Given the description of an element on the screen output the (x, y) to click on. 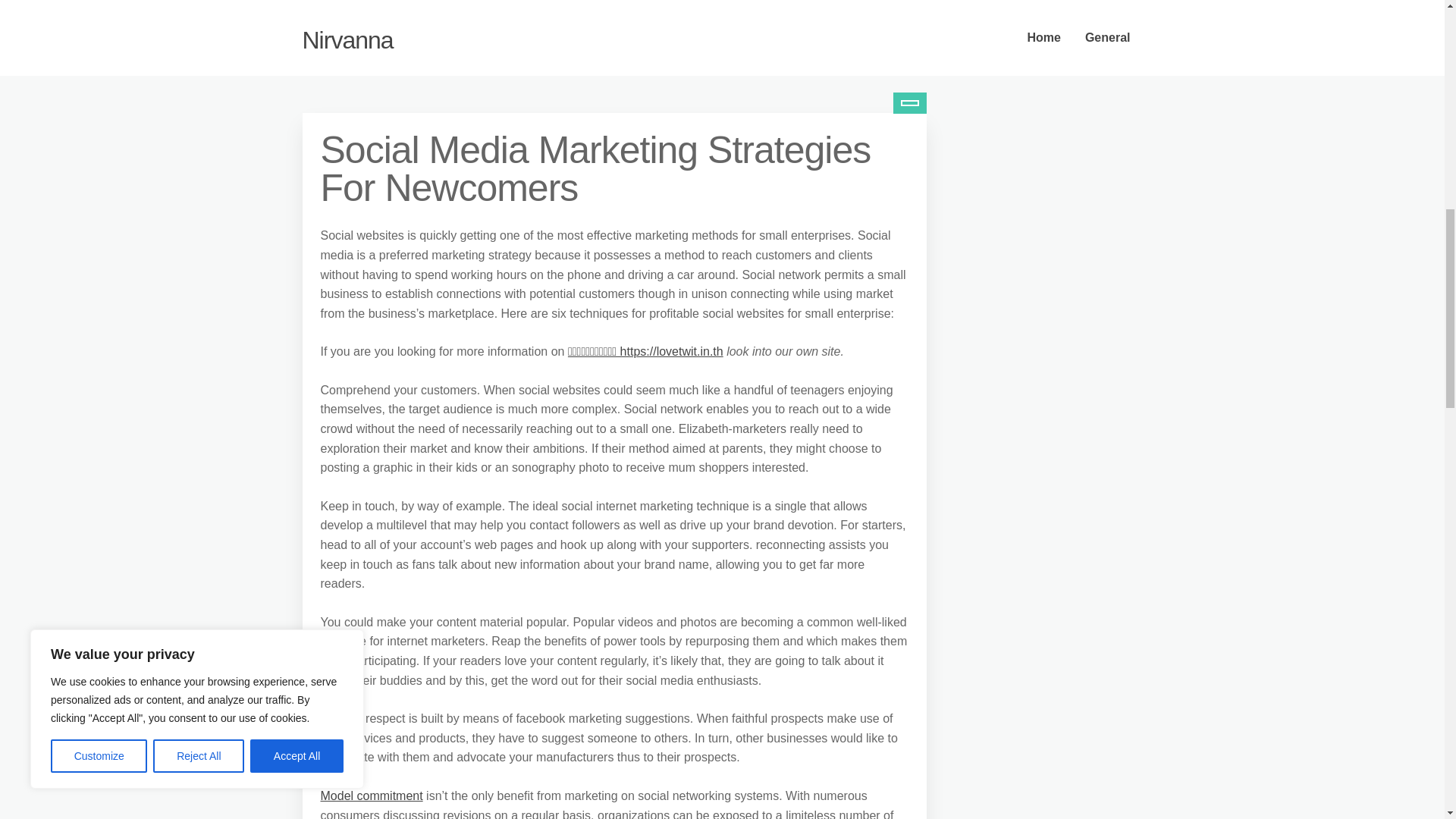
Model commitment (371, 795)
